Given the description of an element on the screen output the (x, y) to click on. 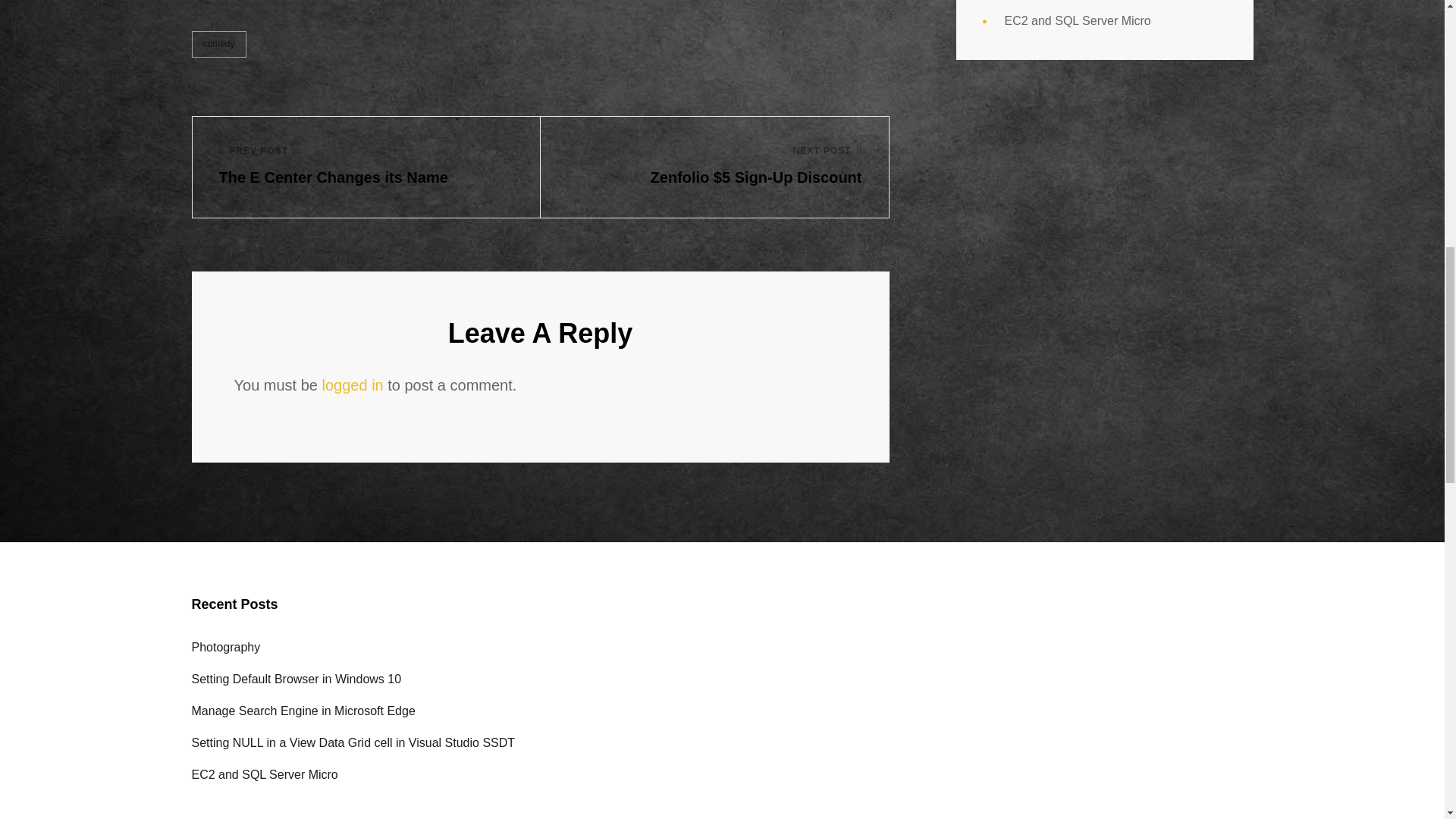
comedy (366, 167)
